Given the description of an element on the screen output the (x, y) to click on. 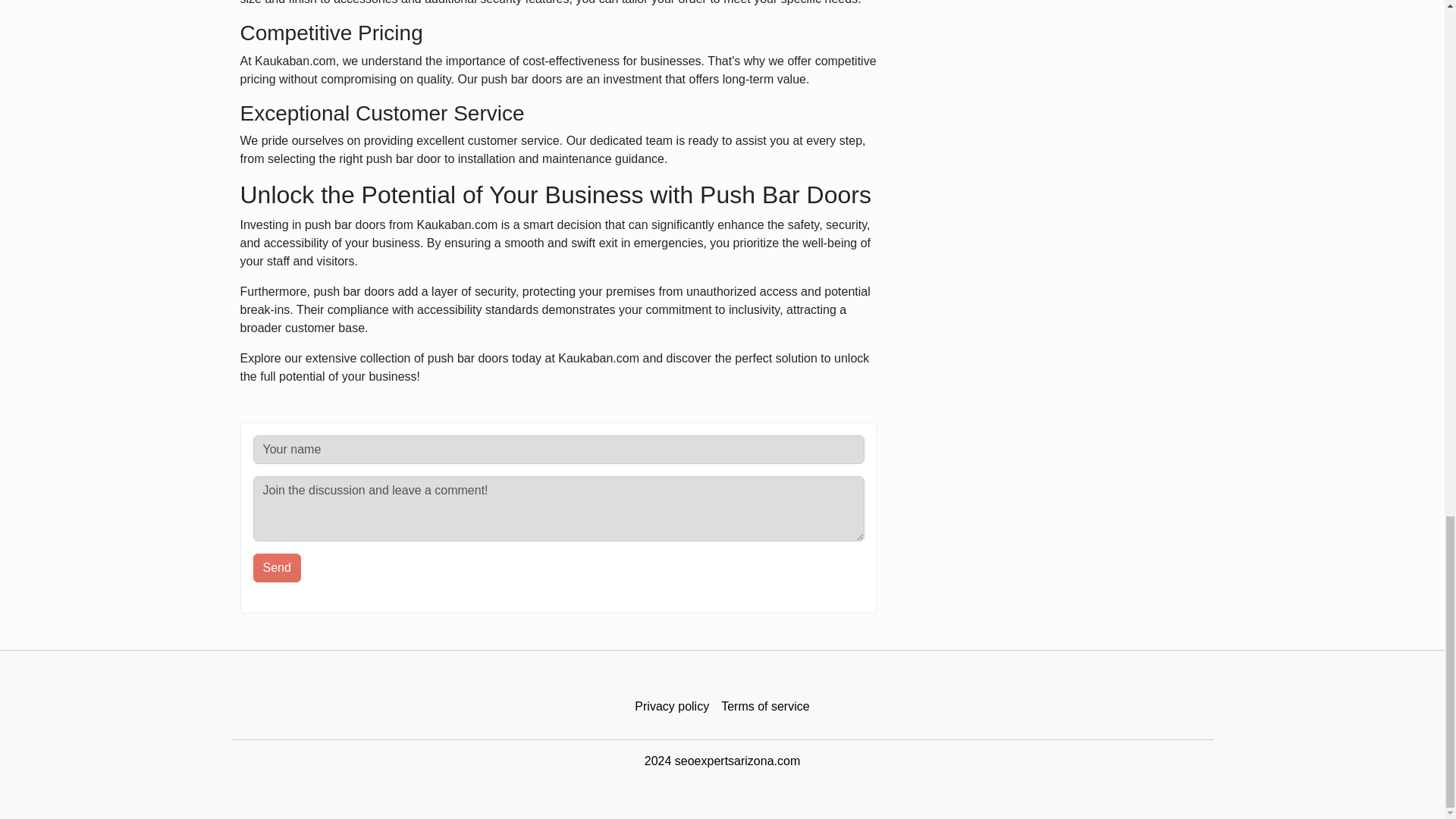
Send (277, 567)
Terms of service (764, 707)
Privacy policy (671, 707)
Send (277, 567)
